Given the description of an element on the screen output the (x, y) to click on. 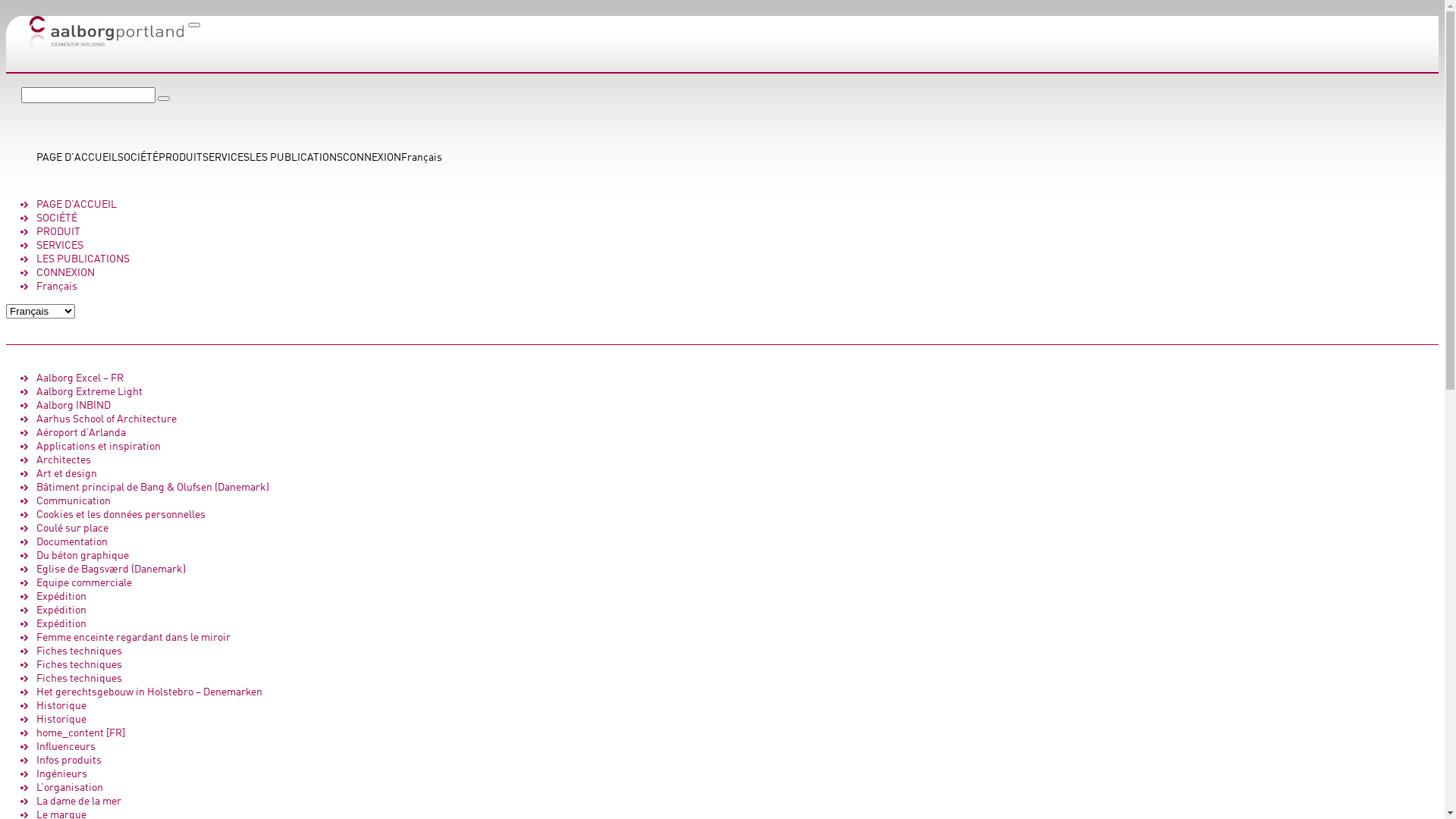
Equipe commerciale Element type: text (83, 582)
Art et design Element type: text (66, 473)
Infos produits Element type: text (68, 760)
Documentation Element type: text (71, 541)
Influenceurs Element type: text (65, 746)
SERVICES Element type: text (59, 245)
CONNEXION Element type: text (371, 157)
Fiches techniques Element type: text (79, 664)
Fiches techniques Element type: text (79, 678)
SERVICES Element type: text (225, 157)
LES PUBLICATIONS Element type: text (82, 259)
PAGE D'ACCUEIL Element type: text (76, 157)
home_content [FR] Element type: text (80, 733)
La dame de la mer Element type: text (78, 801)
Architectes Element type: text (63, 460)
LES PUBLICATIONS Element type: text (295, 157)
PRODUIT Element type: text (58, 231)
Aalborg Extreme Light Element type: text (89, 391)
Aarhus School of Architecture Element type: text (106, 419)
PRODUIT Element type: text (180, 157)
Femme enceinte regardant dans le miroir Element type: text (133, 637)
Fiches techniques Element type: text (79, 651)
Aalborg INBIND Element type: text (73, 405)
Historique Element type: text (61, 705)
Historique Element type: text (61, 719)
CONNEXION Element type: text (65, 272)
Communication Element type: text (73, 500)
Applications et inspiration Element type: text (98, 446)
